Given the description of an element on the screen output the (x, y) to click on. 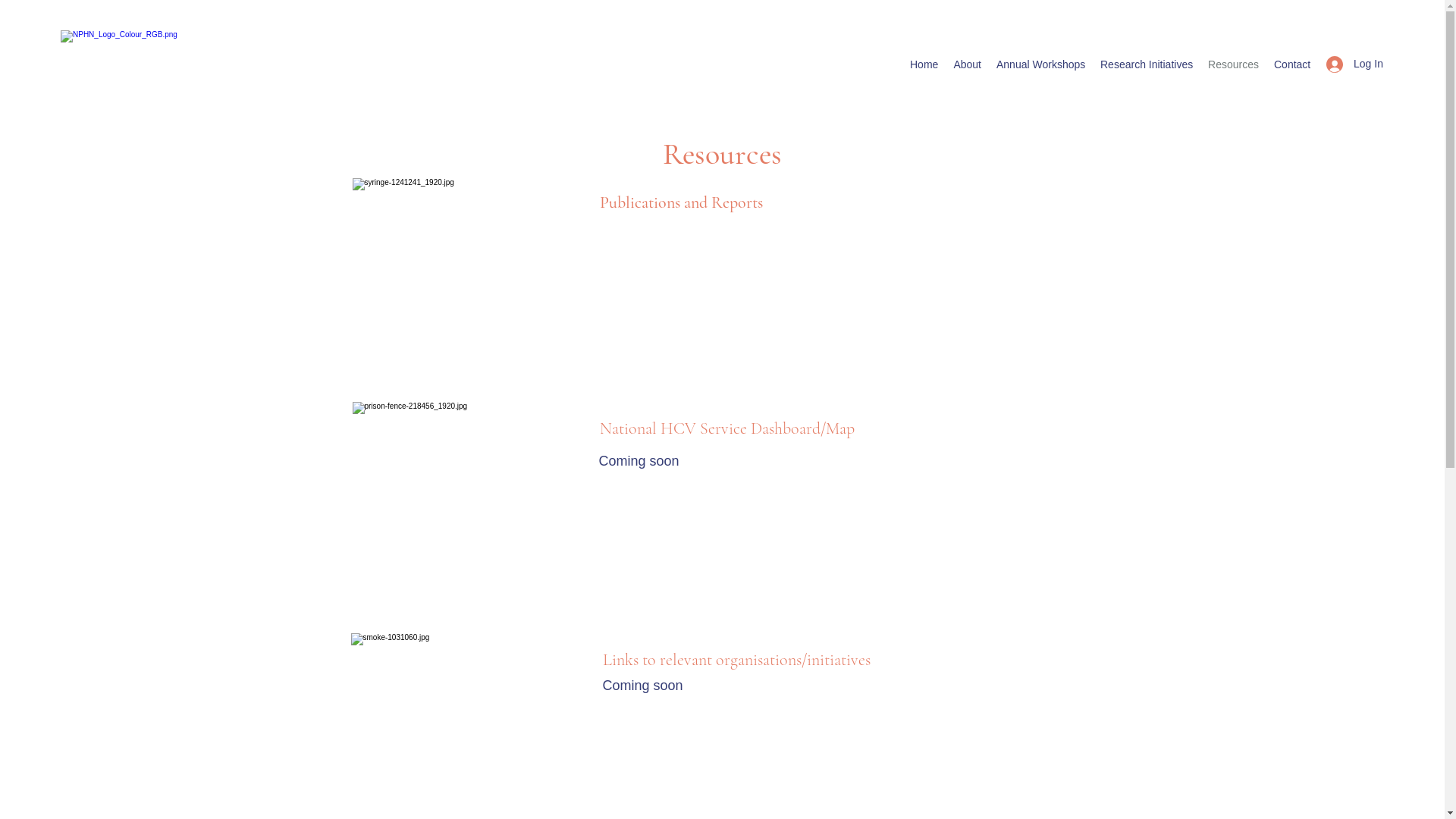
Log In Element type: text (1349, 64)
Annual Workshops Element type: text (1040, 64)
About Element type: text (966, 64)
Home Element type: text (923, 64)
Resources Element type: text (1233, 64)
Research Initiatives Element type: text (1146, 64)
Publications and Reports Element type: text (680, 202)
Contact Element type: text (1291, 64)
